Given the description of an element on the screen output the (x, y) to click on. 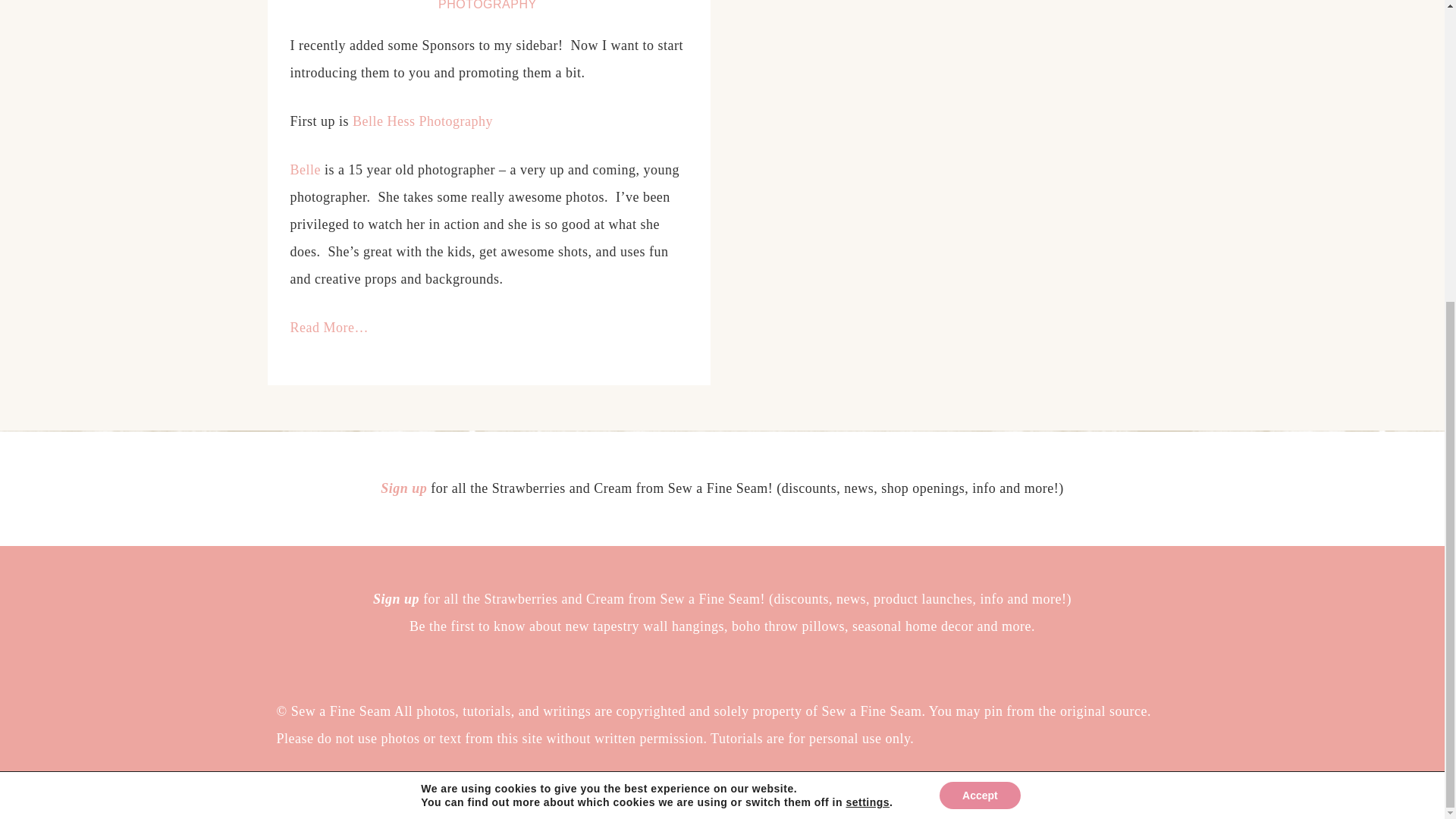
Belle Hess Photography (422, 120)
Belle (304, 169)
PHOTOGRAPHY (489, 5)
